Given the description of an element on the screen output the (x, y) to click on. 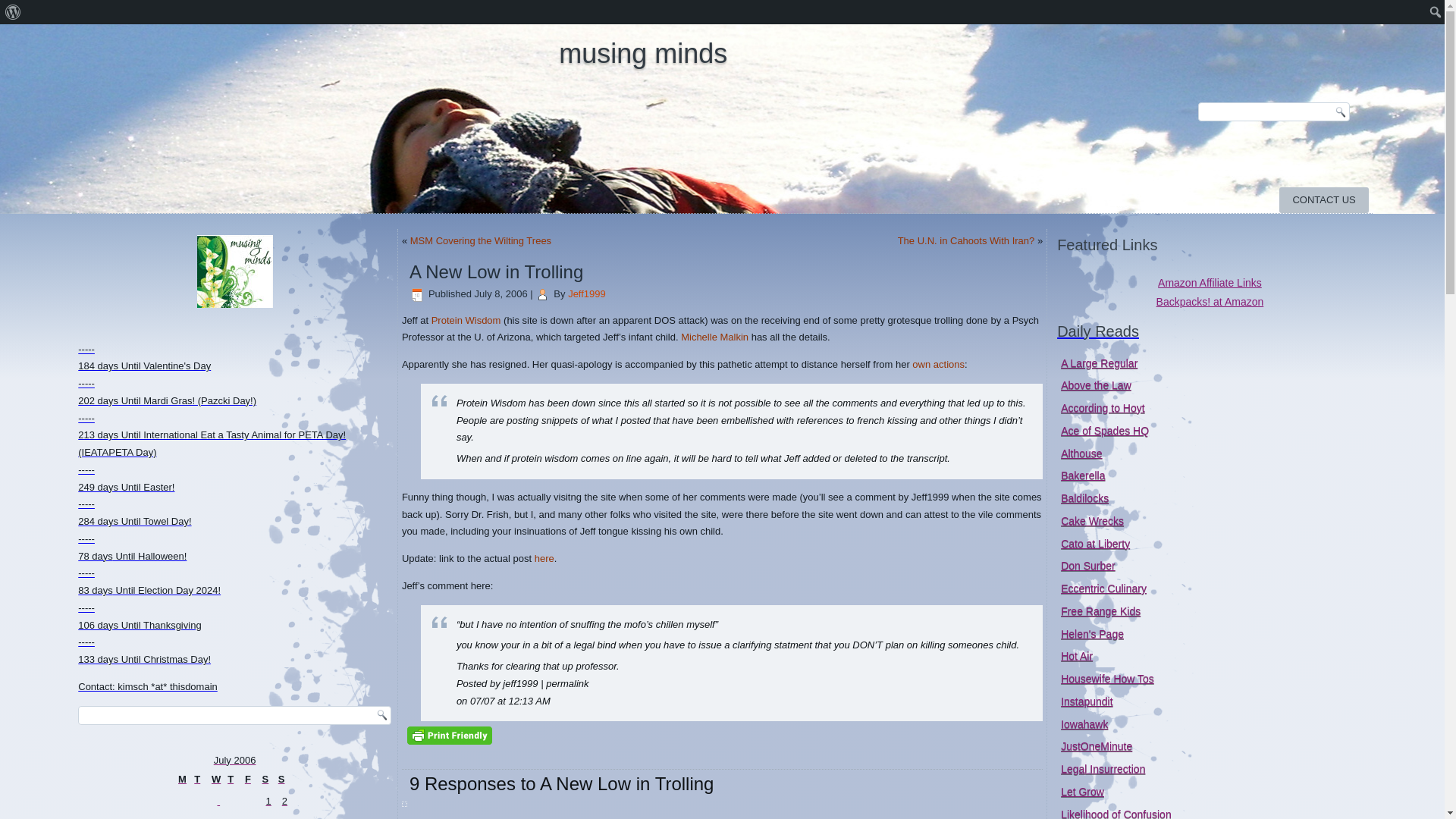
4 (201, 817)
5 (218, 817)
musing minds (642, 52)
6 (235, 817)
9 (285, 817)
8 (269, 817)
CONTACT US (1323, 199)
CONTACT US (1323, 199)
